Given the description of an element on the screen output the (x, y) to click on. 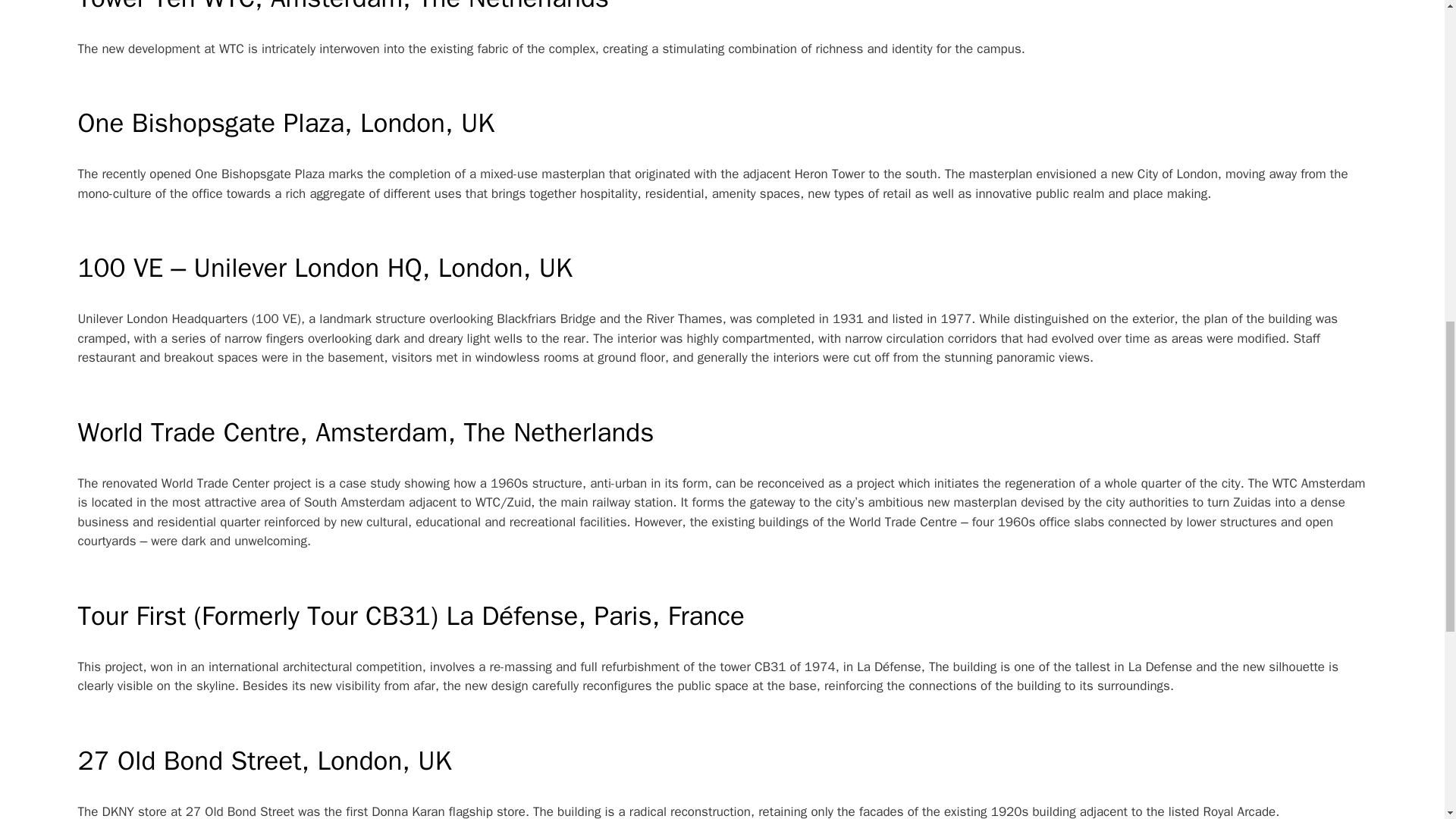
Tower Ten WTC, Amsterdam, The Netherlands (342, 7)
World Trade Centre, Amsterdam, The Netherlands (365, 431)
One Bishopsgate Plaza, London, UK (285, 122)
27 Old Bond Street, London, UK (264, 760)
